Given the description of an element on the screen output the (x, y) to click on. 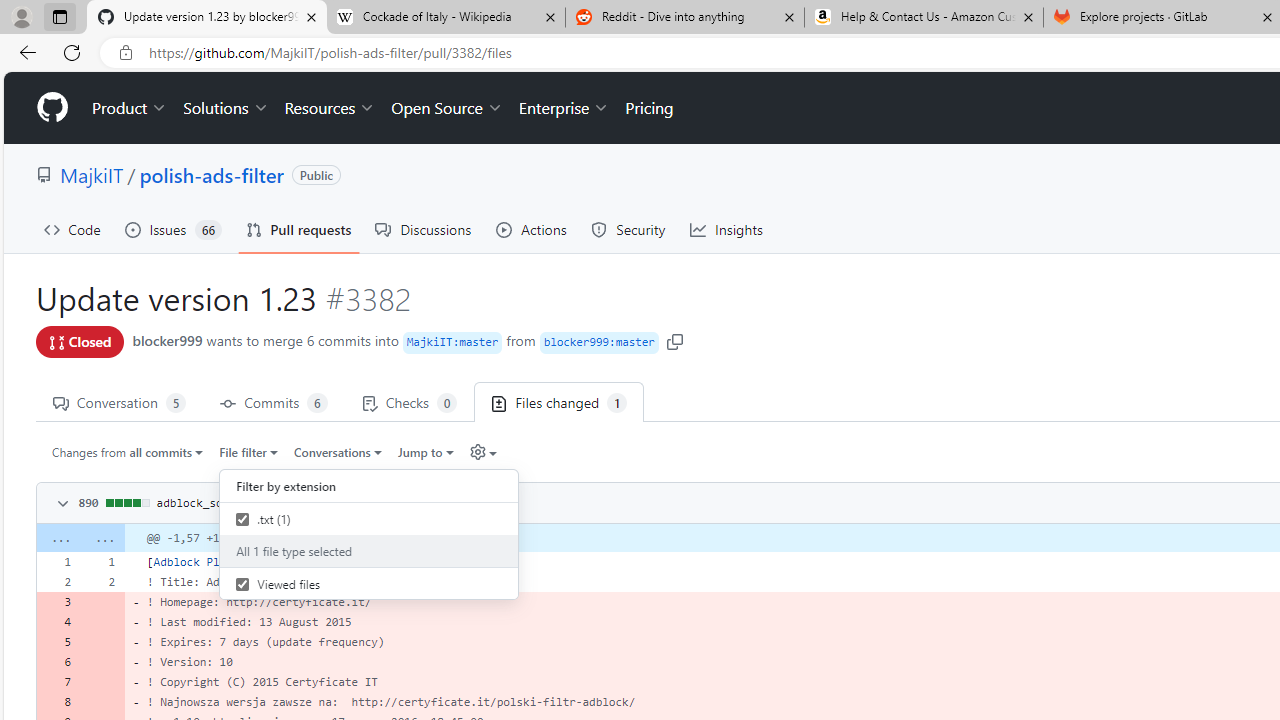
Cockade of Italy - Wikipedia (445, 17)
Issues66 (173, 229)
Product (130, 107)
MajkiIT : master (452, 342)
Discussions (424, 229)
6 (58, 661)
Security (628, 229)
Insights (726, 229)
